Given the description of an element on the screen output the (x, y) to click on. 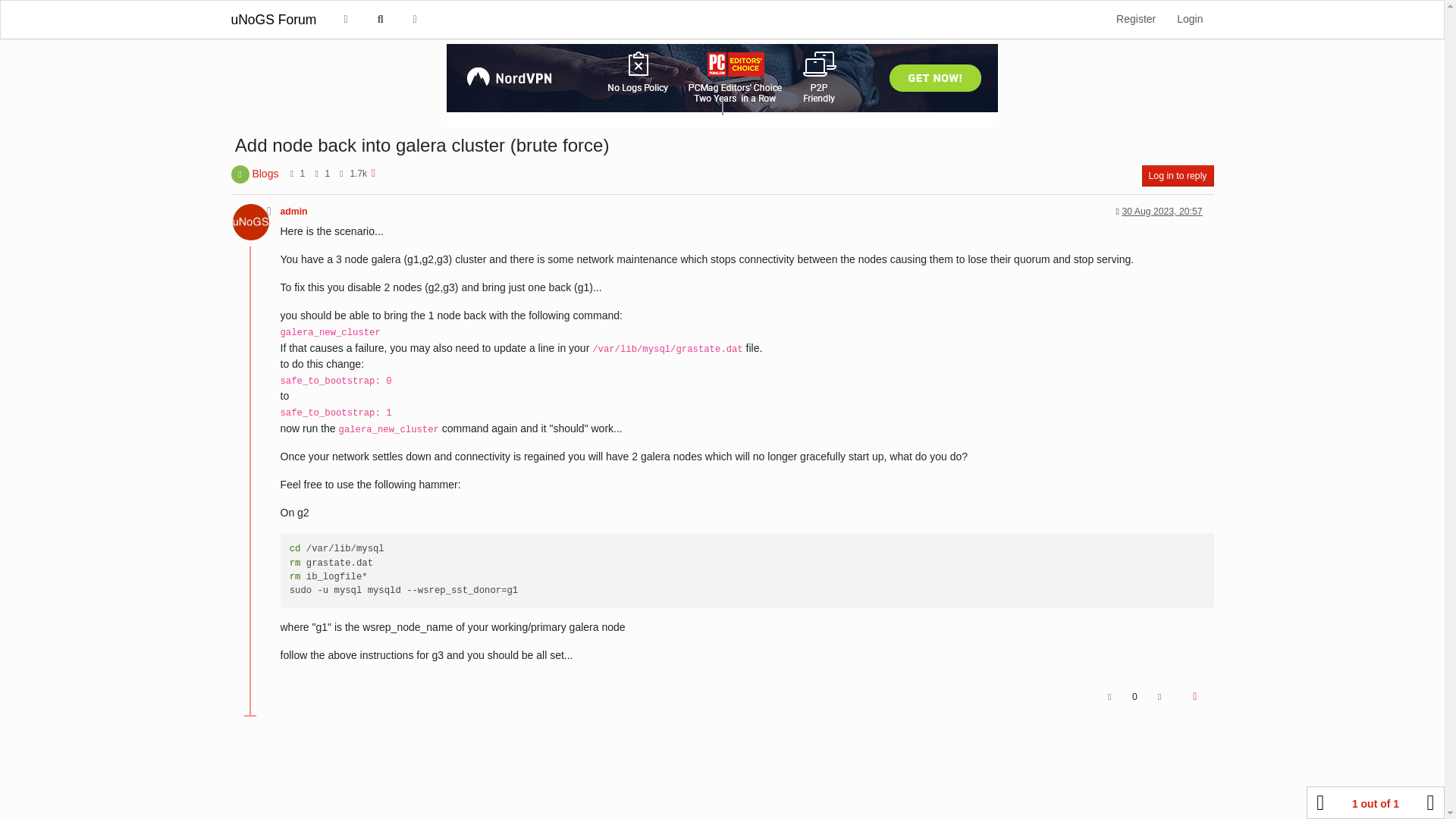
1743 (357, 173)
Blogs (264, 173)
Register (1135, 19)
uNoGS Forum (272, 19)
Categories (345, 19)
Posters (291, 173)
30 Aug 2023, 20:57 (1161, 211)
Login (1189, 19)
Views (341, 173)
Search (379, 19)
admin (249, 221)
1 out of 1 (1374, 802)
uNoGS Search (414, 19)
admin (294, 211)
Log in to reply (1177, 175)
